Given the description of an element on the screen output the (x, y) to click on. 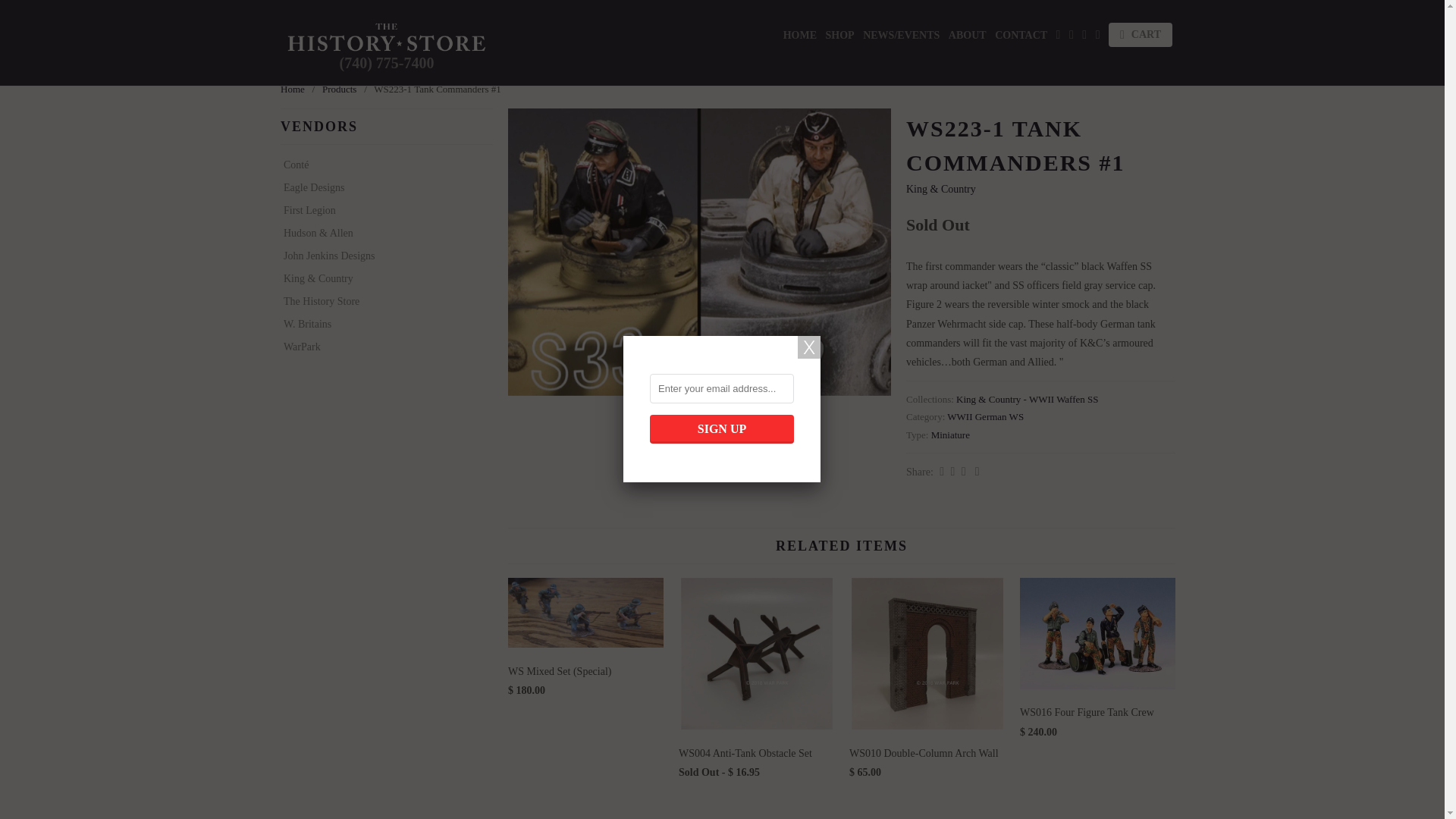
WarPark (380, 346)
The History Store (387, 37)
Shop (839, 38)
The History Store on Twitter (1059, 37)
First Legion (380, 210)
Contact (1020, 38)
Eagle Designs (380, 187)
CART (1140, 34)
The History Store (380, 301)
Sign Up (721, 428)
W. Britains (380, 324)
First Legion (380, 210)
HOME (799, 38)
Home (292, 89)
Products (338, 89)
